Given the description of an element on the screen output the (x, y) to click on. 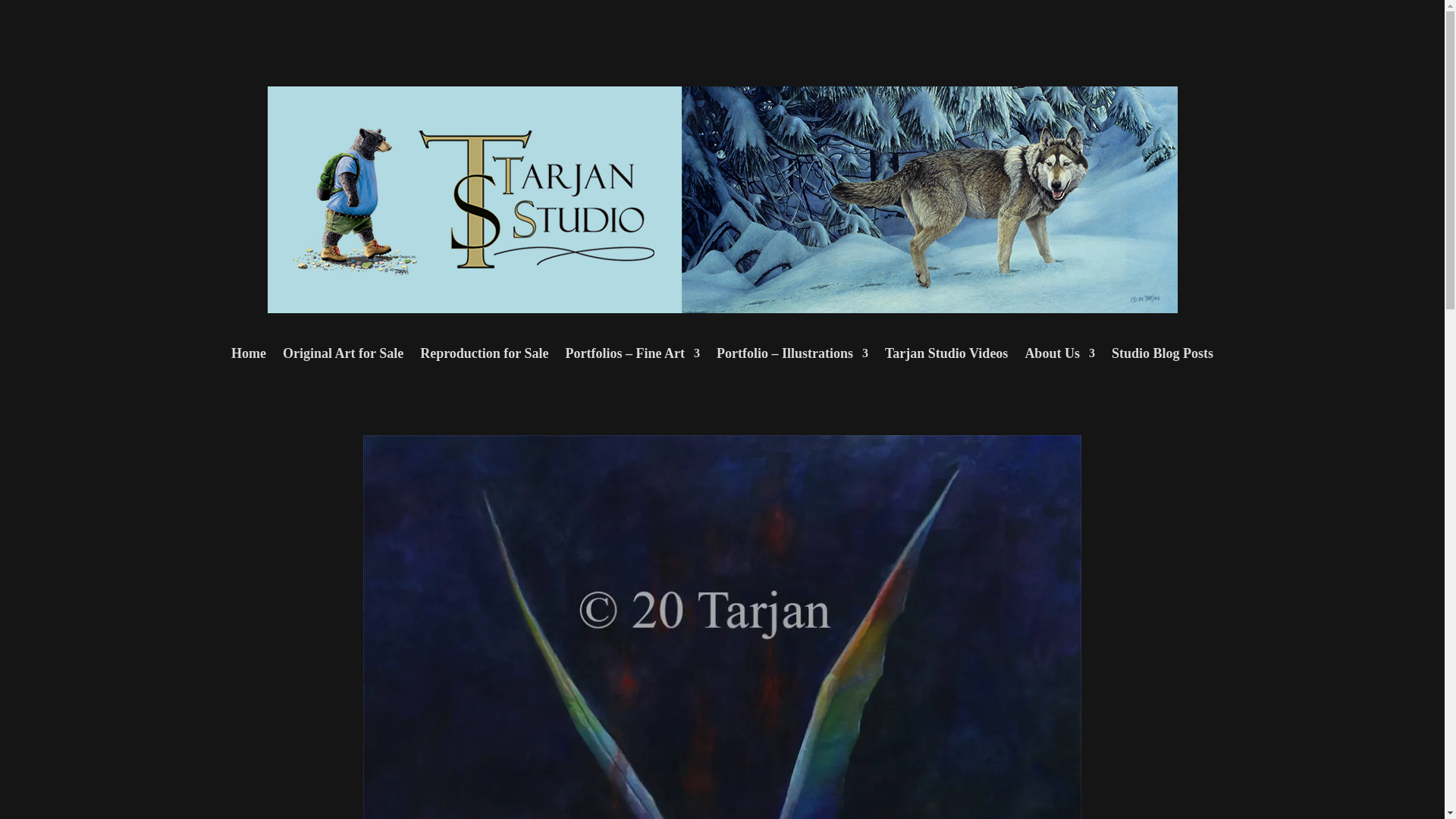
Tarjan Studio Videos (946, 356)
Studio Blog Posts (1162, 356)
Reproduction for Sale (484, 356)
About Us (1059, 356)
Original Art for Sale (342, 356)
Home (248, 356)
